Given the description of an element on the screen output the (x, y) to click on. 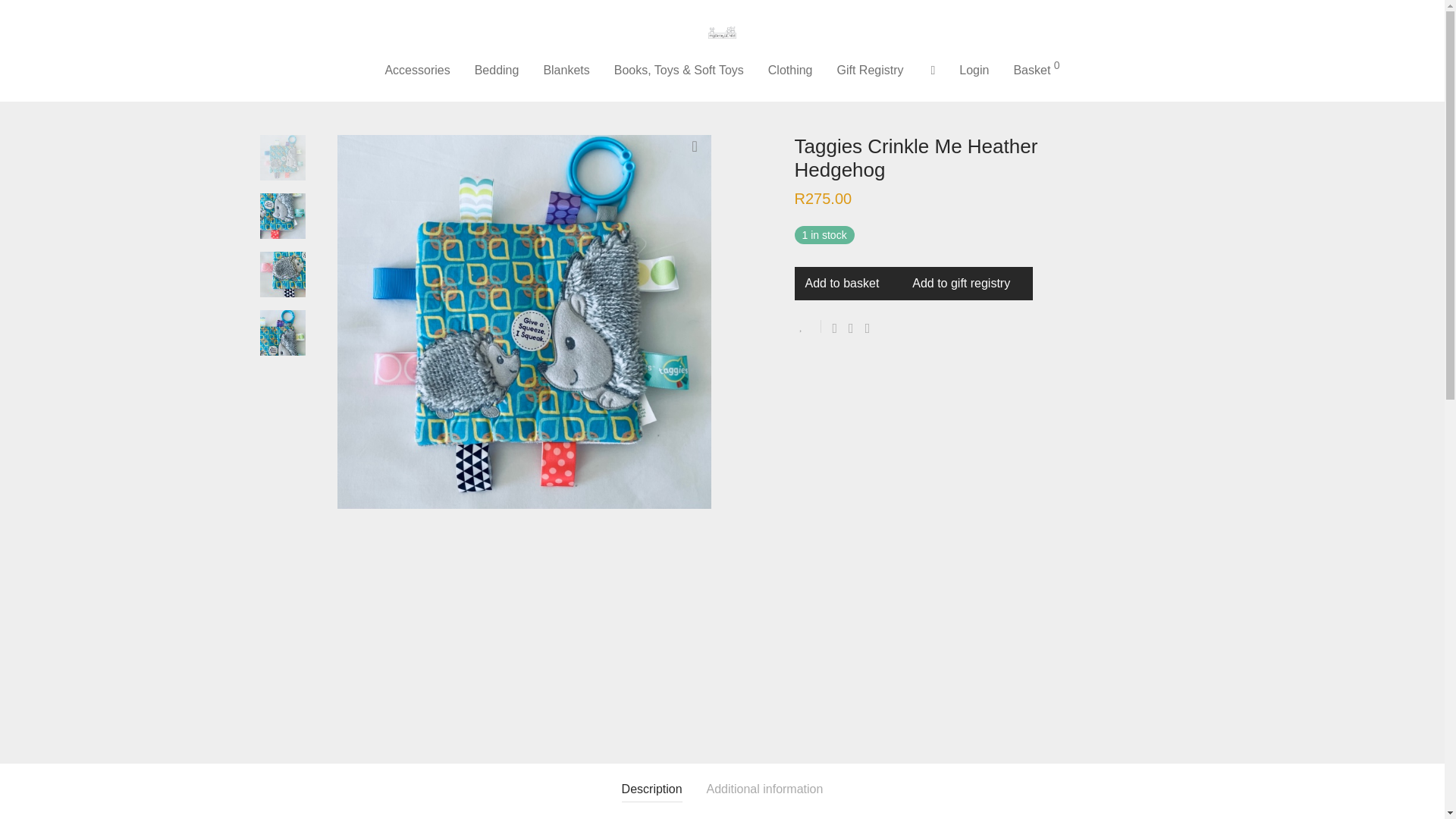
Home (272, 88)
Add to Wishlist (807, 326)
Login (974, 70)
Gift Registry (870, 70)
Basket 0 (1036, 70)
Clothing (790, 70)
Taglets (444, 88)
Blankets (566, 70)
Bedding (497, 70)
Accessories (416, 70)
